Given the description of an element on the screen output the (x, y) to click on. 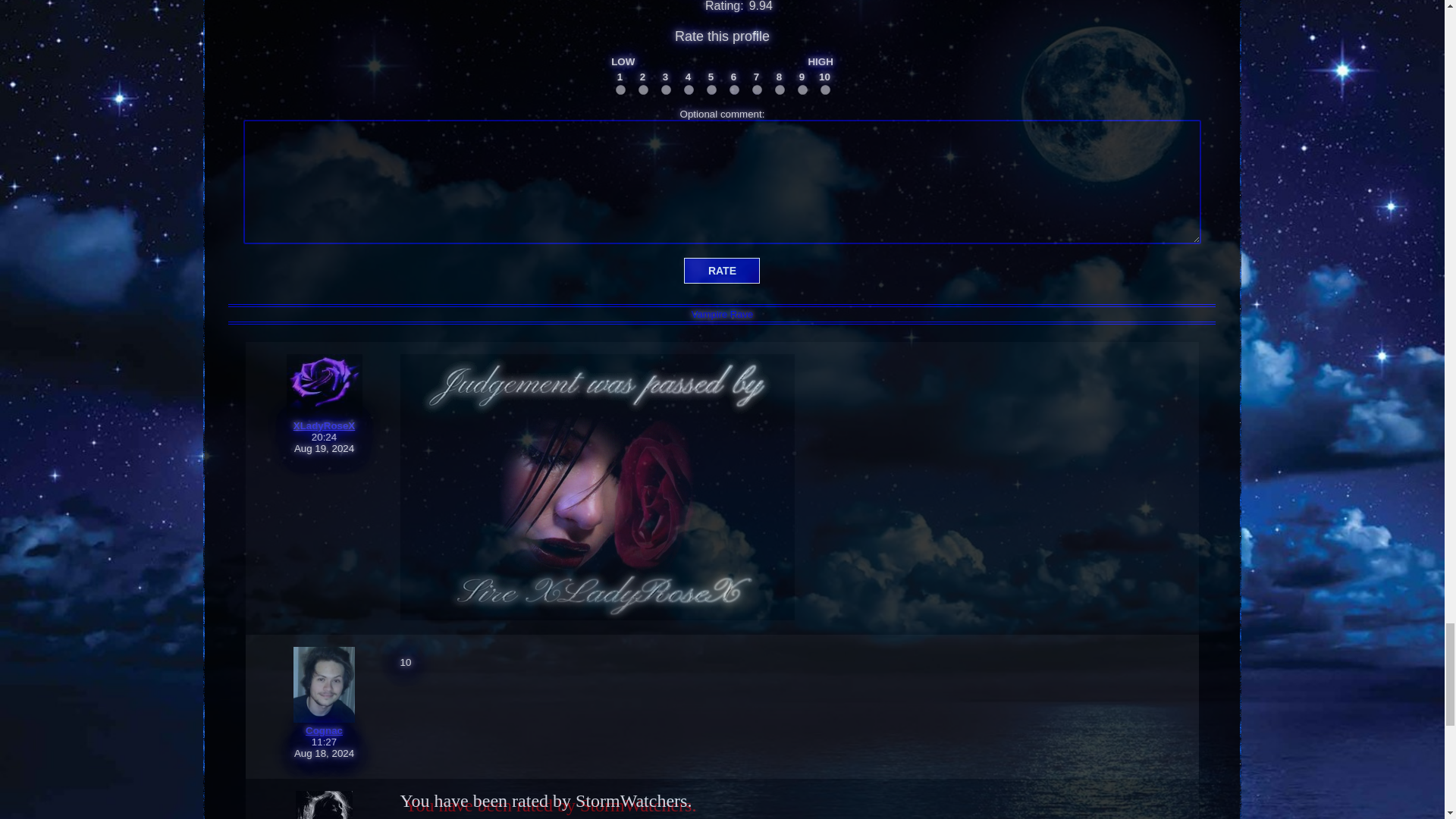
 RATE  (722, 270)
6 (734, 90)
9 (802, 90)
1 (620, 90)
10 (825, 90)
8 (779, 90)
5 (711, 90)
7 (756, 90)
2 (643, 90)
4 (689, 90)
